Given the description of an element on the screen output the (x, y) to click on. 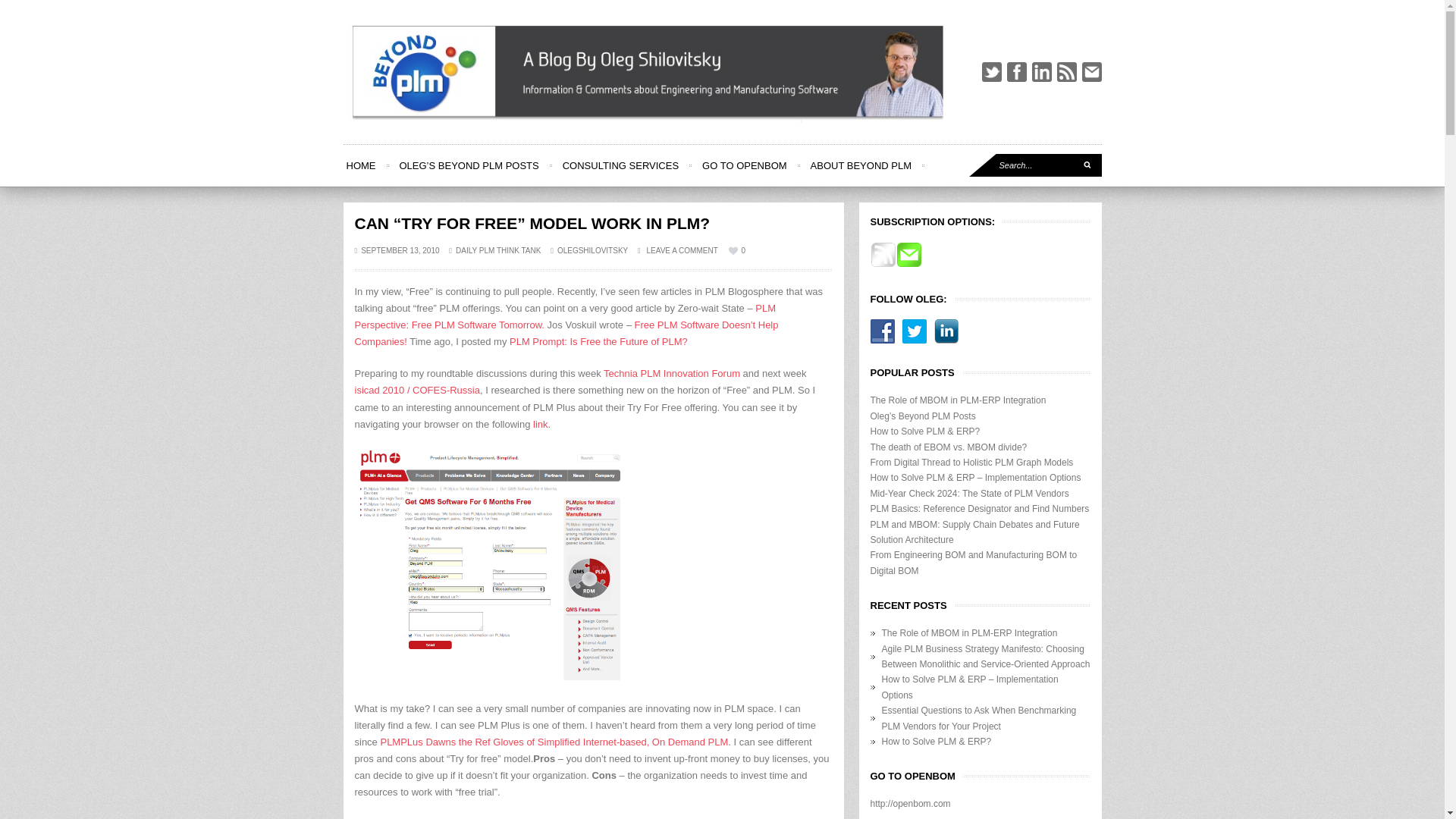
linkedin (1040, 71)
0 (736, 250)
PLM Prompt: Is Free the Future of PLM? (598, 341)
OLEGSHILOVITSKY (592, 250)
Picture 81 (493, 563)
facebook (1016, 71)
link (540, 423)
Technia PLM Innovation Forum (671, 373)
LEAVE A COMMENT (681, 250)
The Role of MBOM in PLM-ERP Integration (958, 399)
Search... (1035, 164)
LEAVE A COMMENT (677, 250)
GO TO OPENBOM (743, 165)
rss (1067, 71)
Posts by olegshilovitsky (592, 250)
